Given the description of an element on the screen output the (x, y) to click on. 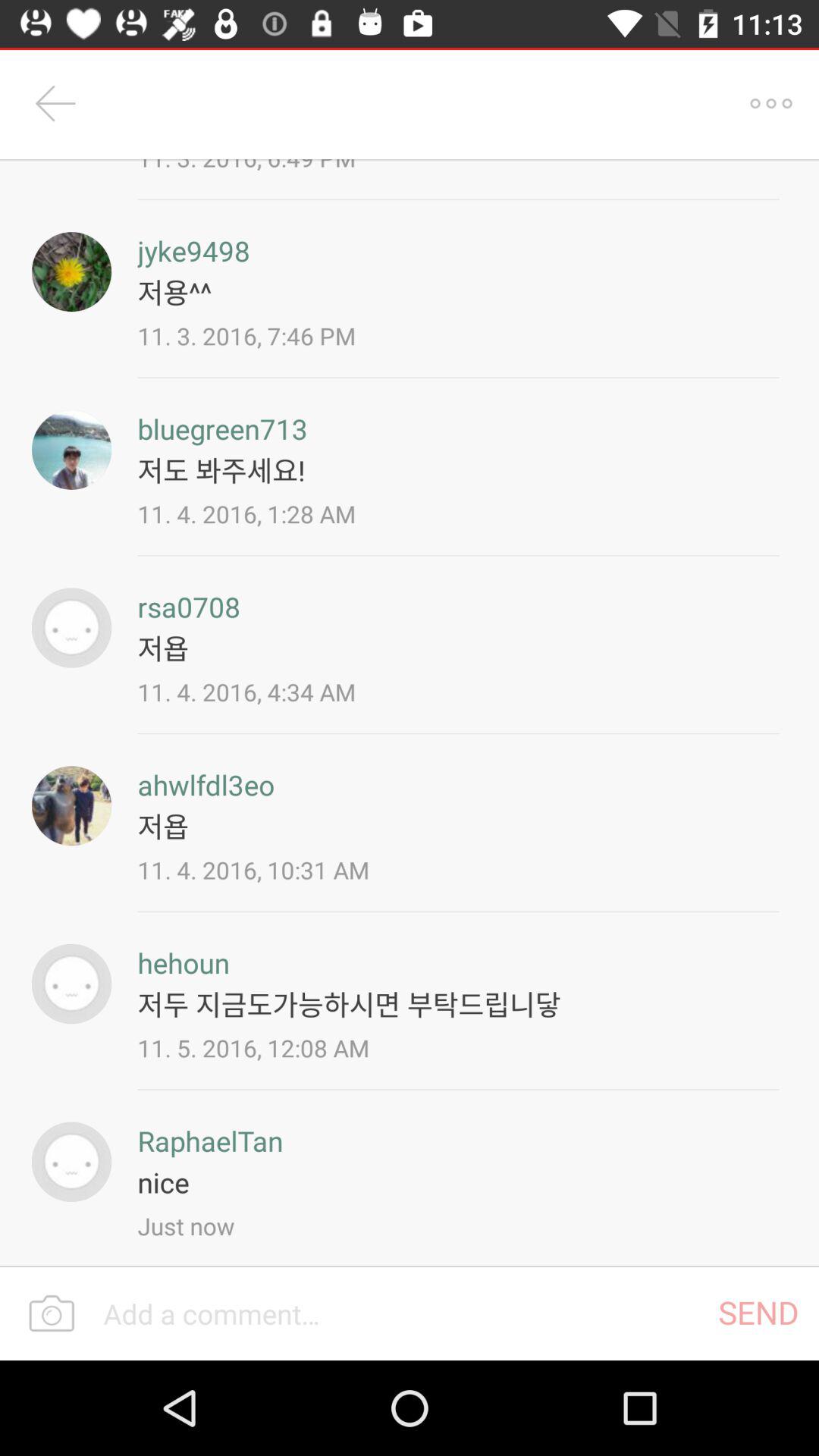
add a comment section (400, 1313)
